Given the description of an element on the screen output the (x, y) to click on. 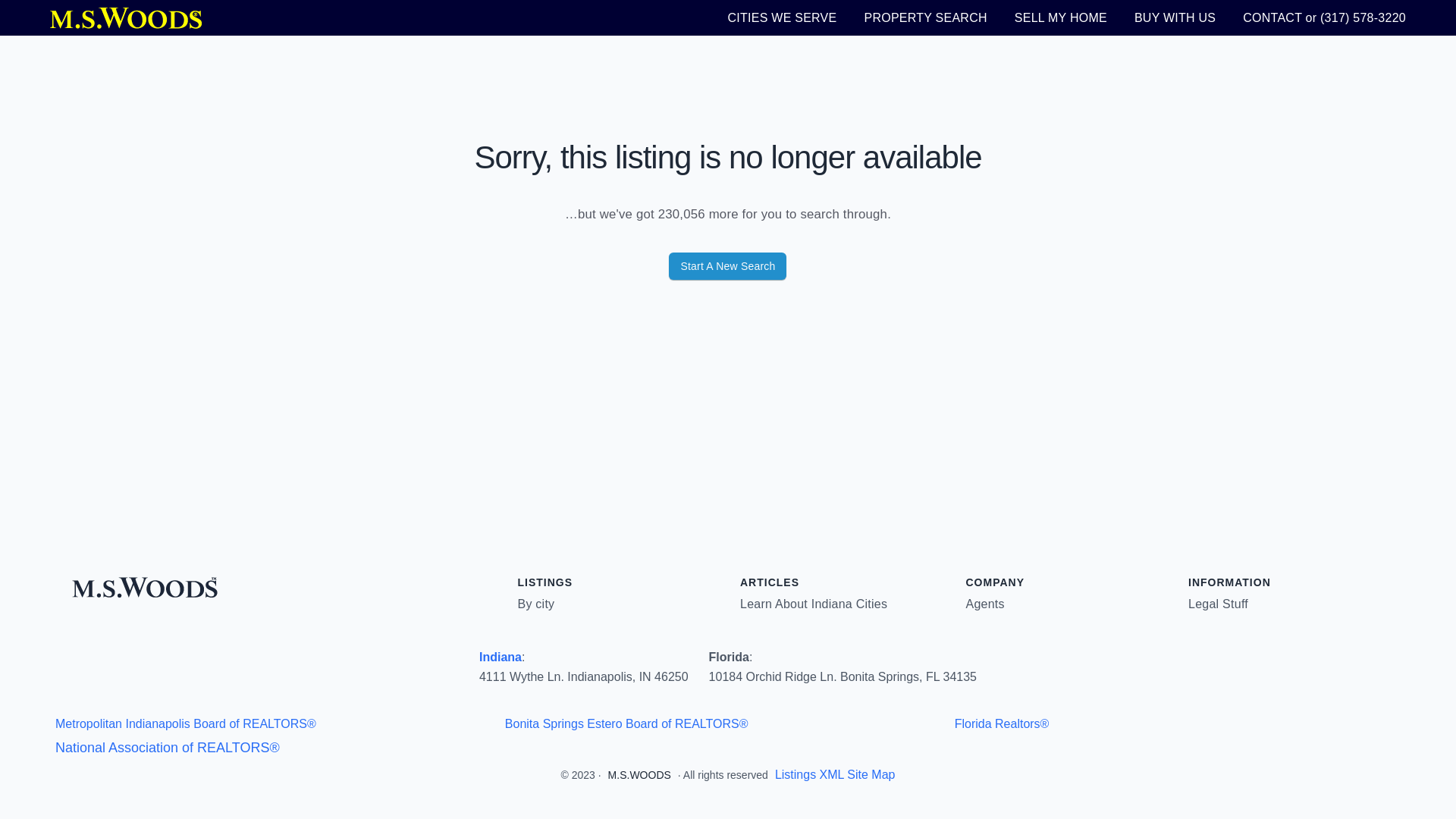
PROPERTY SEARCH (925, 17)
Listings XML Site Map (834, 774)
By city (535, 604)
M.S.WOODS (639, 775)
Agents (985, 604)
Legal Stuff (1217, 604)
Indiana (500, 656)
Start A New Search (727, 266)
BUY WITH US (1174, 17)
Learn About Indiana Cities (812, 604)
